Given the description of an element on the screen output the (x, y) to click on. 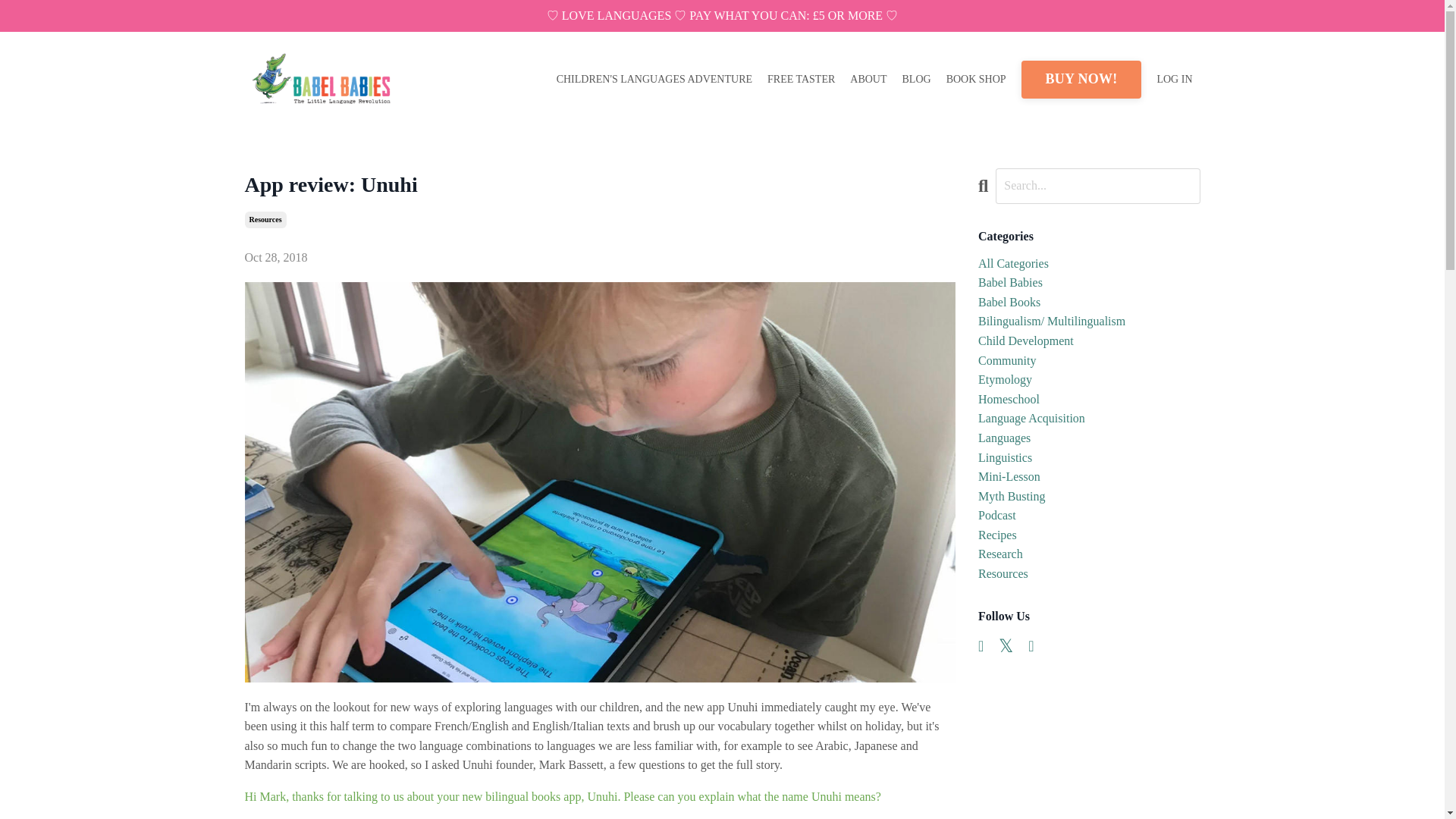
Myth Busting (1088, 496)
BLOG (916, 79)
Child Development (1088, 341)
LOG IN (1174, 79)
FREE TASTER (800, 79)
ABOUT (868, 79)
Languages (1088, 437)
Etymology (1088, 379)
Research (1088, 554)
Resources (264, 219)
